Given the description of an element on the screen output the (x, y) to click on. 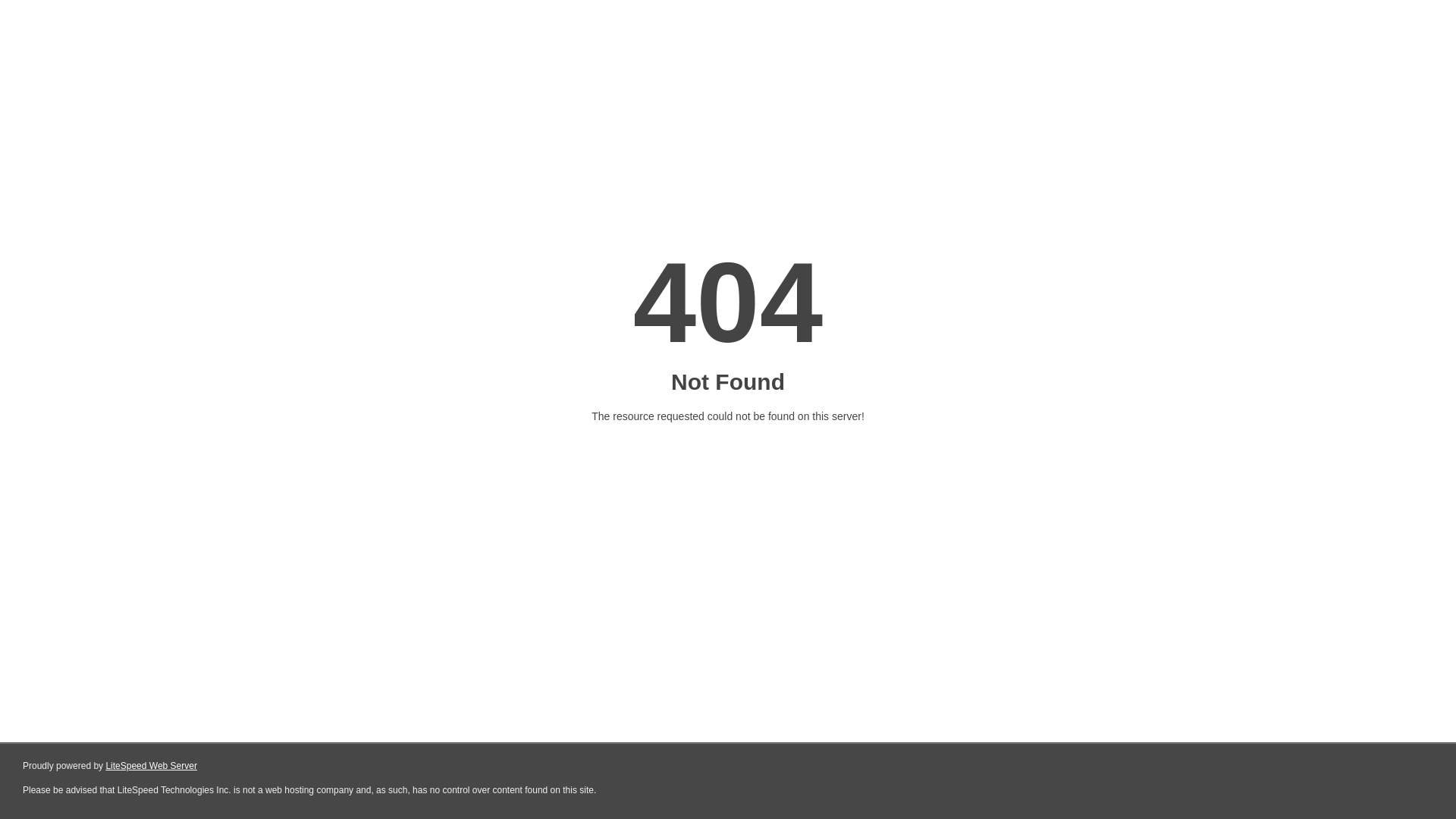
LiteSpeed Web Server Element type: text (151, 765)
